Given the description of an element on the screen output the (x, y) to click on. 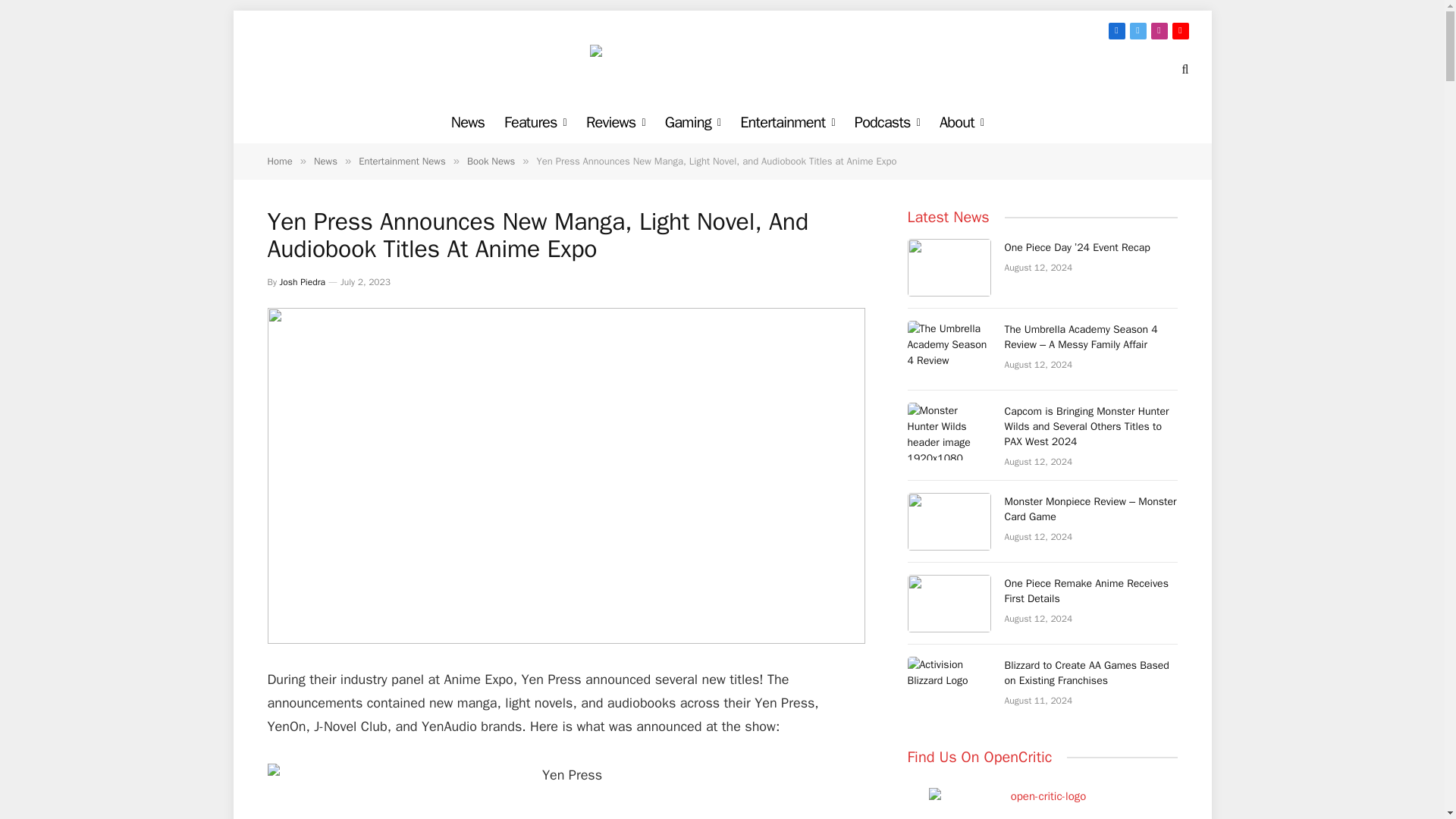
Features (535, 122)
The Outerhaven (722, 68)
YouTube (1180, 30)
Facebook (1116, 30)
Posts by Josh Piedra (301, 282)
News (468, 122)
Instagram (1159, 30)
Reviews (615, 122)
